Given the description of an element on the screen output the (x, y) to click on. 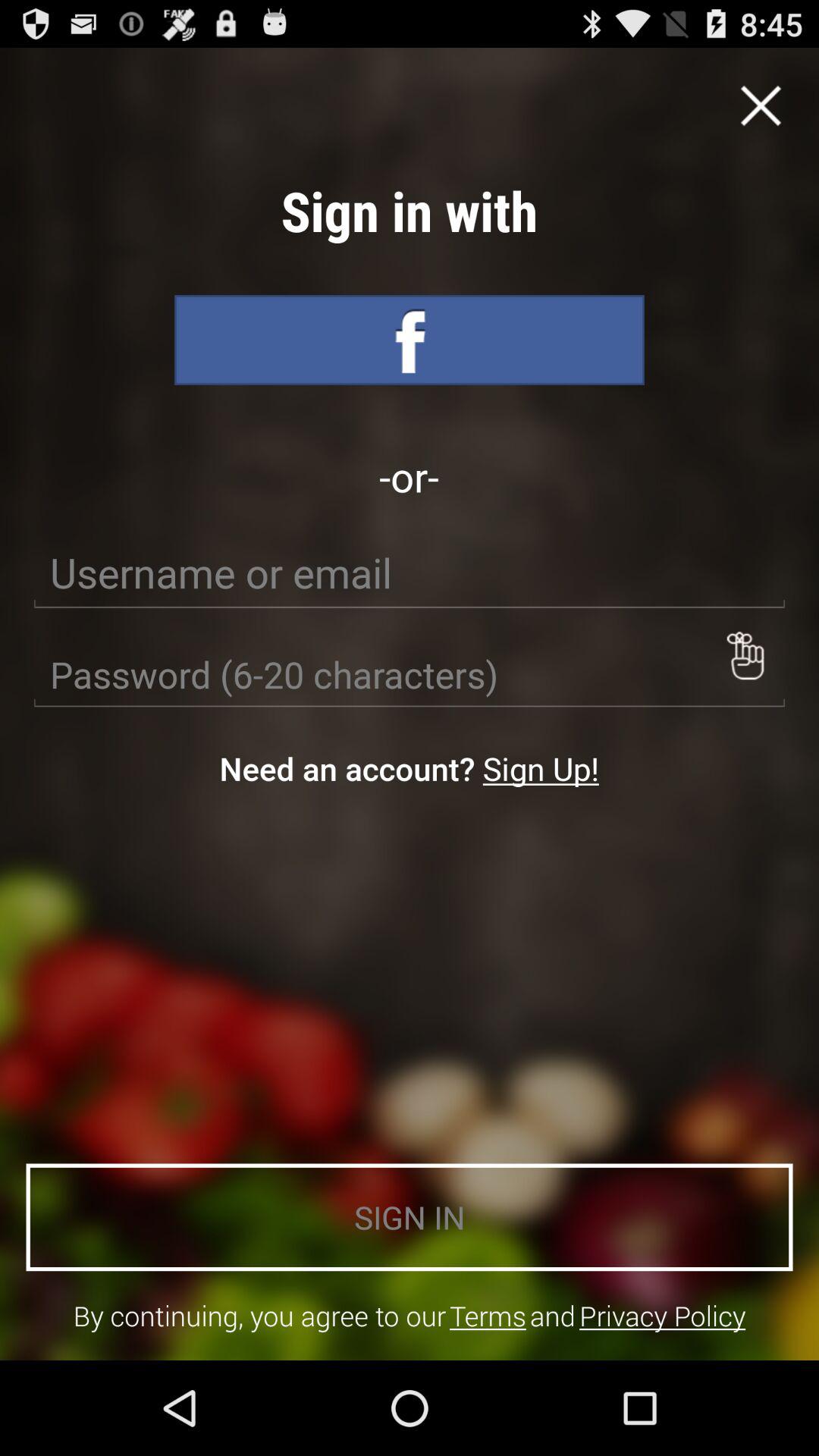
exit option (760, 105)
